Given the description of an element on the screen output the (x, y) to click on. 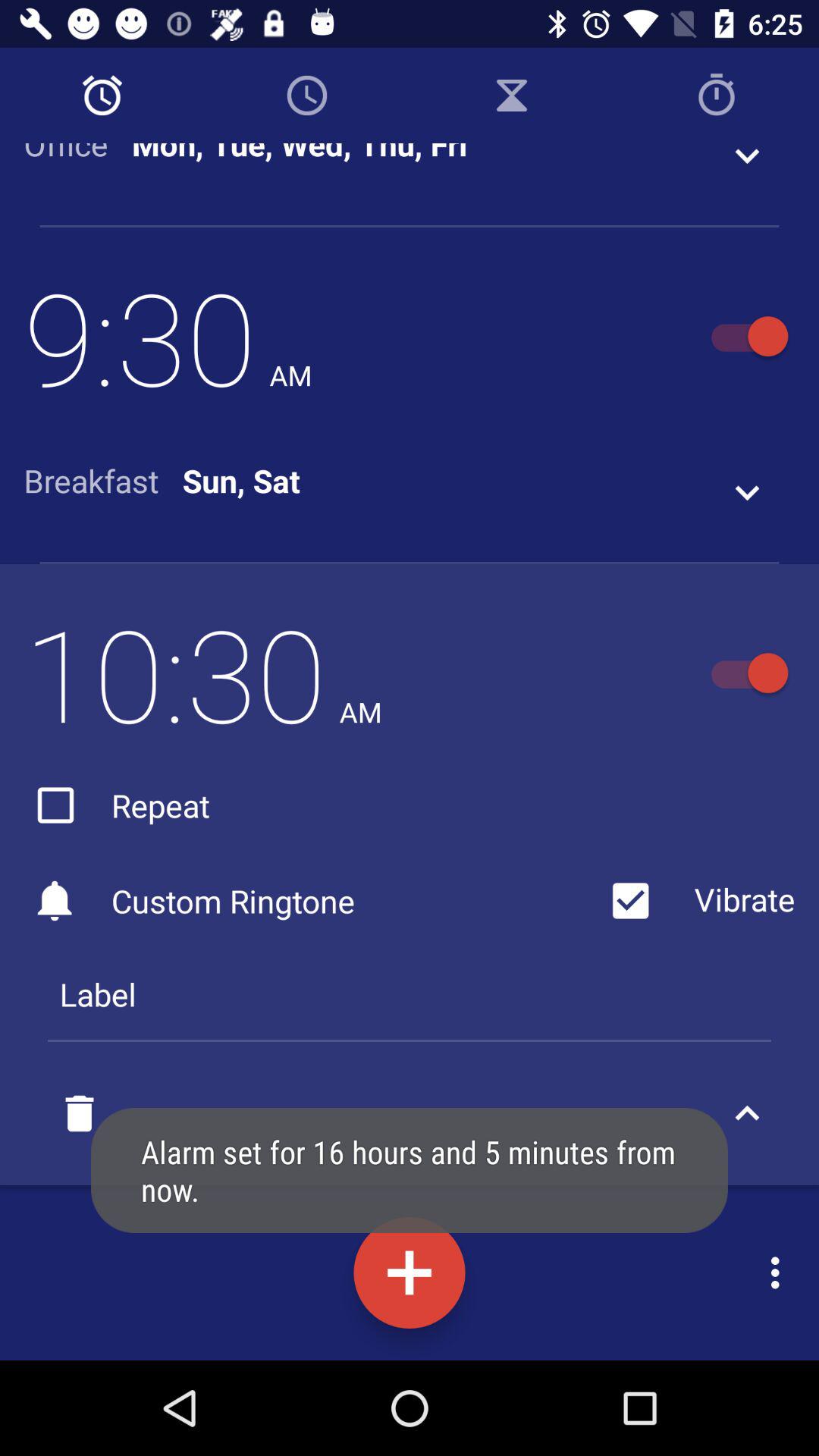
turn on the sun, sat item (241, 480)
